Given the description of an element on the screen output the (x, y) to click on. 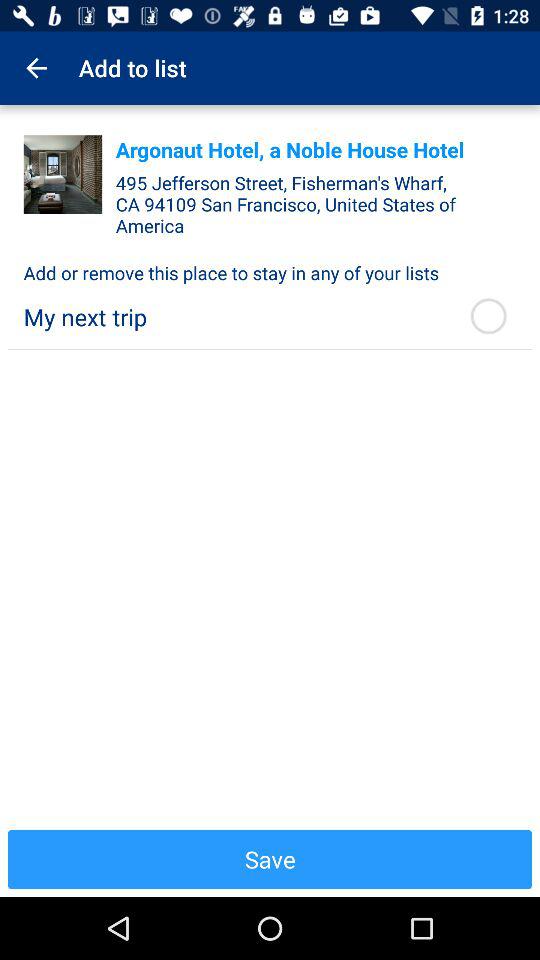
jump until my next trip (233, 316)
